Given the description of an element on the screen output the (x, y) to click on. 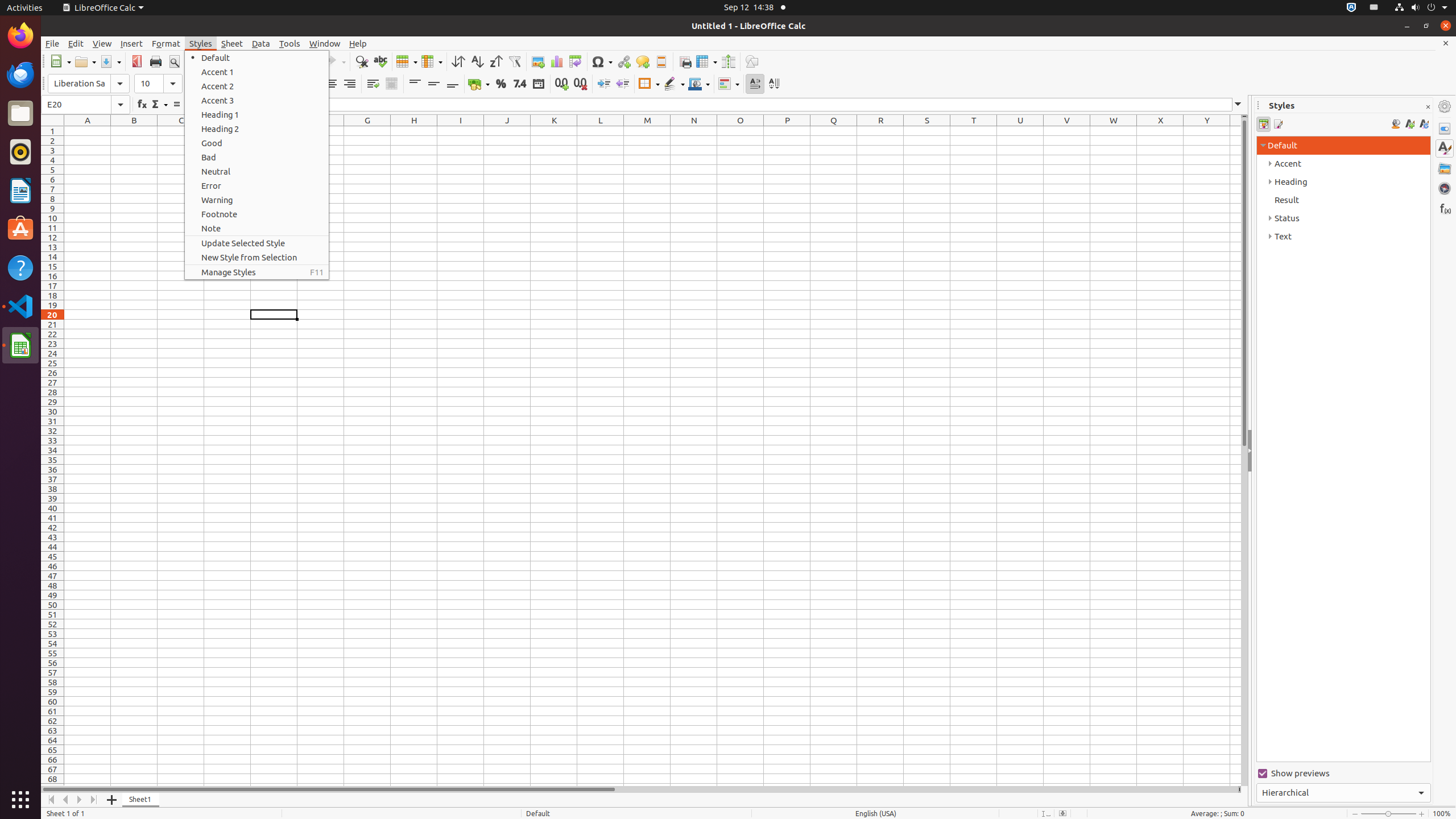
Heading 1 Element type: radio-menu-item (256, 114)
Increase Element type: push-button (603, 83)
Edit Element type: menu (75, 43)
Sheet Element type: menu (231, 43)
Column Element type: push-button (431, 61)
